Given the description of an element on the screen output the (x, y) to click on. 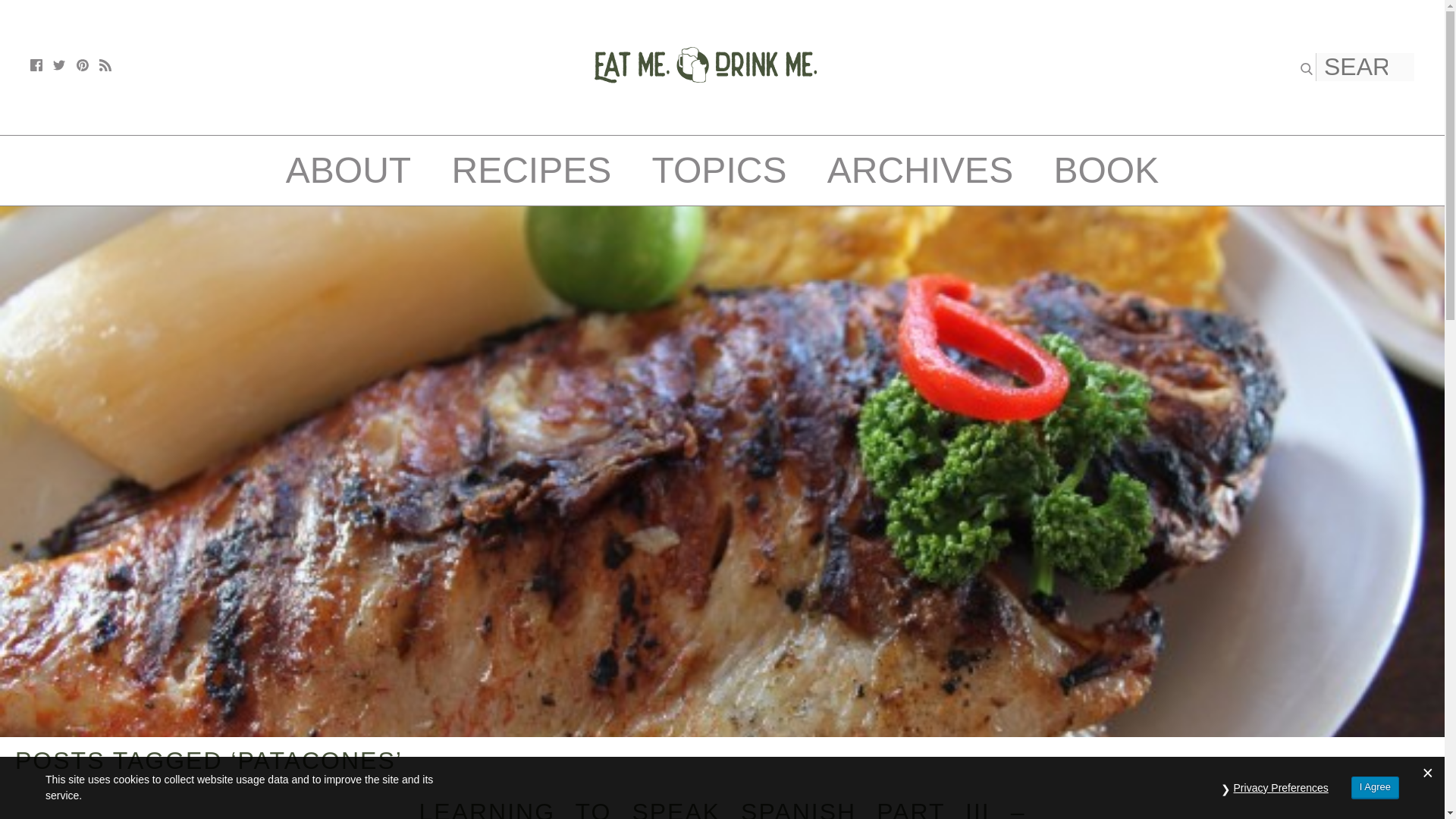
ABOUT (347, 169)
TWITTER (58, 64)
BLOGLOVIN' (105, 64)
ARCHIVES (920, 169)
BLOGLOVIN' (105, 64)
EAT ME DRINK ME LOGO (705, 117)
I Agree (1375, 787)
FACEBOOK (36, 64)
TOPICS (719, 169)
RECIPES (531, 169)
